Given the description of an element on the screen output the (x, y) to click on. 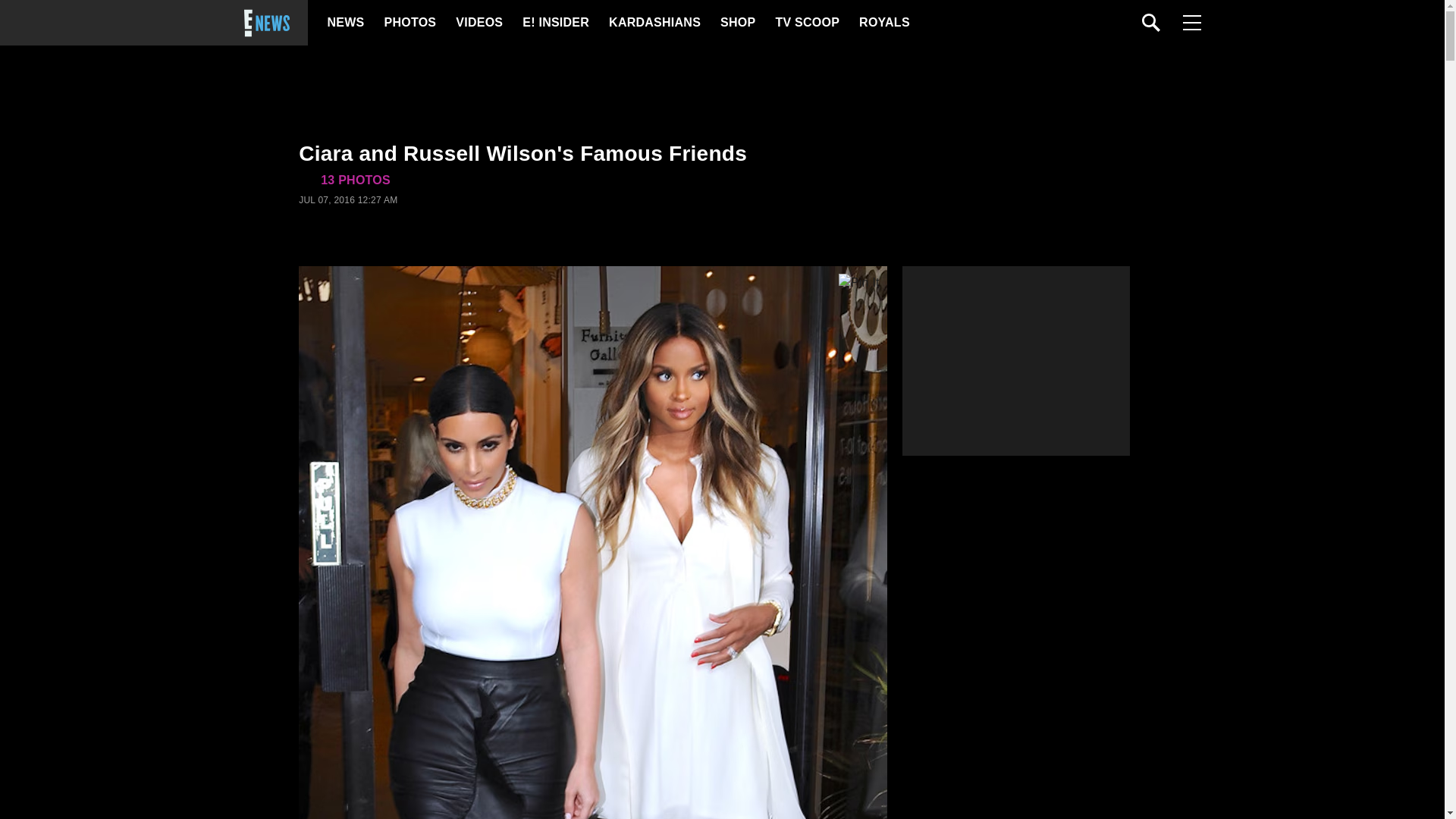
NEWS (345, 22)
PHOTOS (408, 22)
KARDASHIANS (653, 22)
ROYALS (883, 22)
SHOP (737, 22)
VIDEOS (478, 22)
E! INSIDER (555, 22)
TV SCOOP (806, 22)
